Given the description of an element on the screen output the (x, y) to click on. 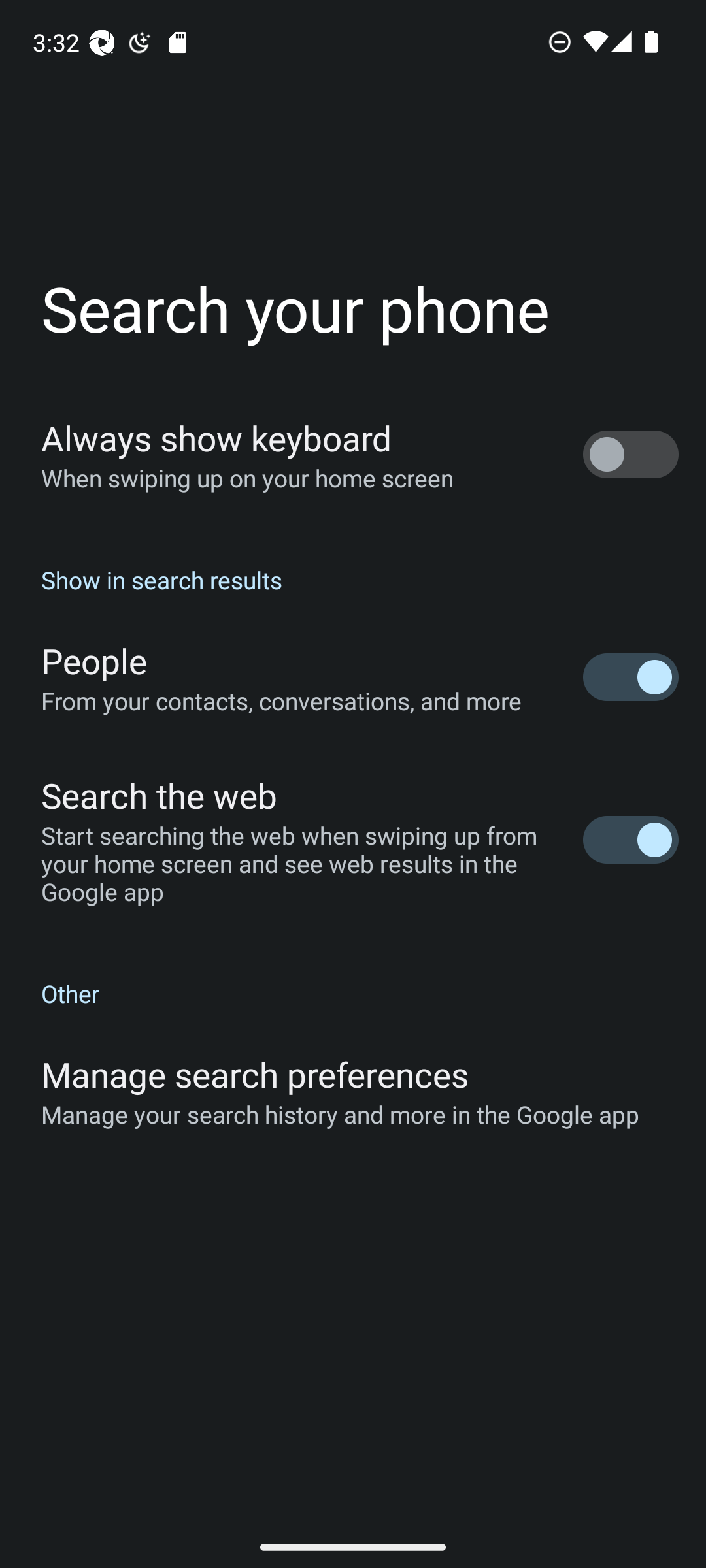
People From your contacts, conversations, and more (353, 676)
